Given the description of an element on the screen output the (x, y) to click on. 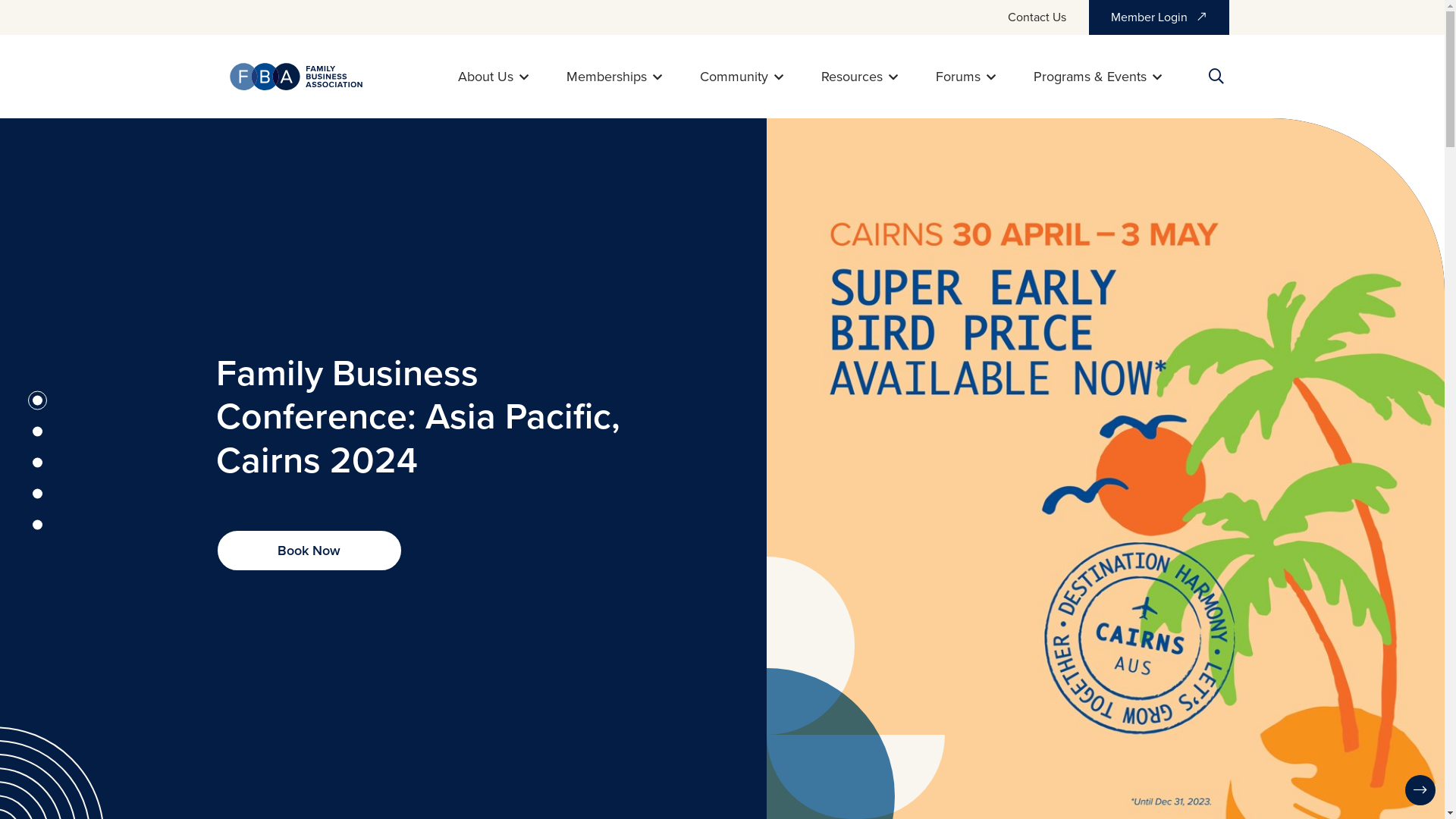
About Us Element type: text (493, 76)
Memberships Element type: text (613, 76)
Resources Element type: text (858, 76)
Programs & Events Element type: text (1096, 76)
2 Element type: text (36, 431)
Forums Element type: text (965, 76)
Contact Us Element type: text (1036, 16)
Book Now Element type: text (308, 550)
4 Element type: text (36, 493)
Member Login Element type: text (1158, 17)
Community Element type: text (740, 76)
1 Element type: text (36, 400)
3 Element type: text (36, 462)
5 Element type: text (36, 524)
